Given the description of an element on the screen output the (x, y) to click on. 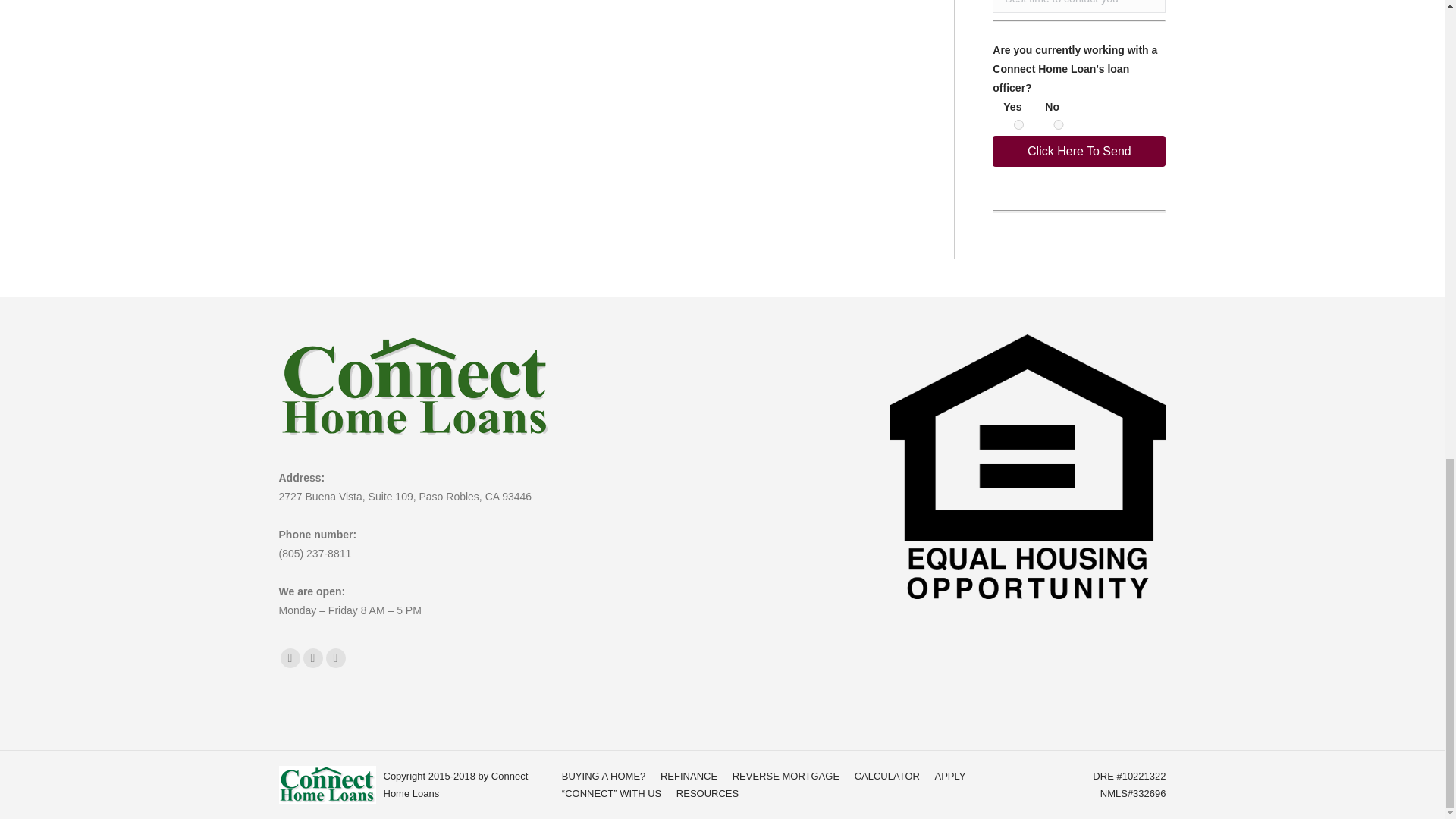
Click Here To Send (1079, 151)
No (1058, 124)
Yes (1018, 124)
